Given the description of an element on the screen output the (x, y) to click on. 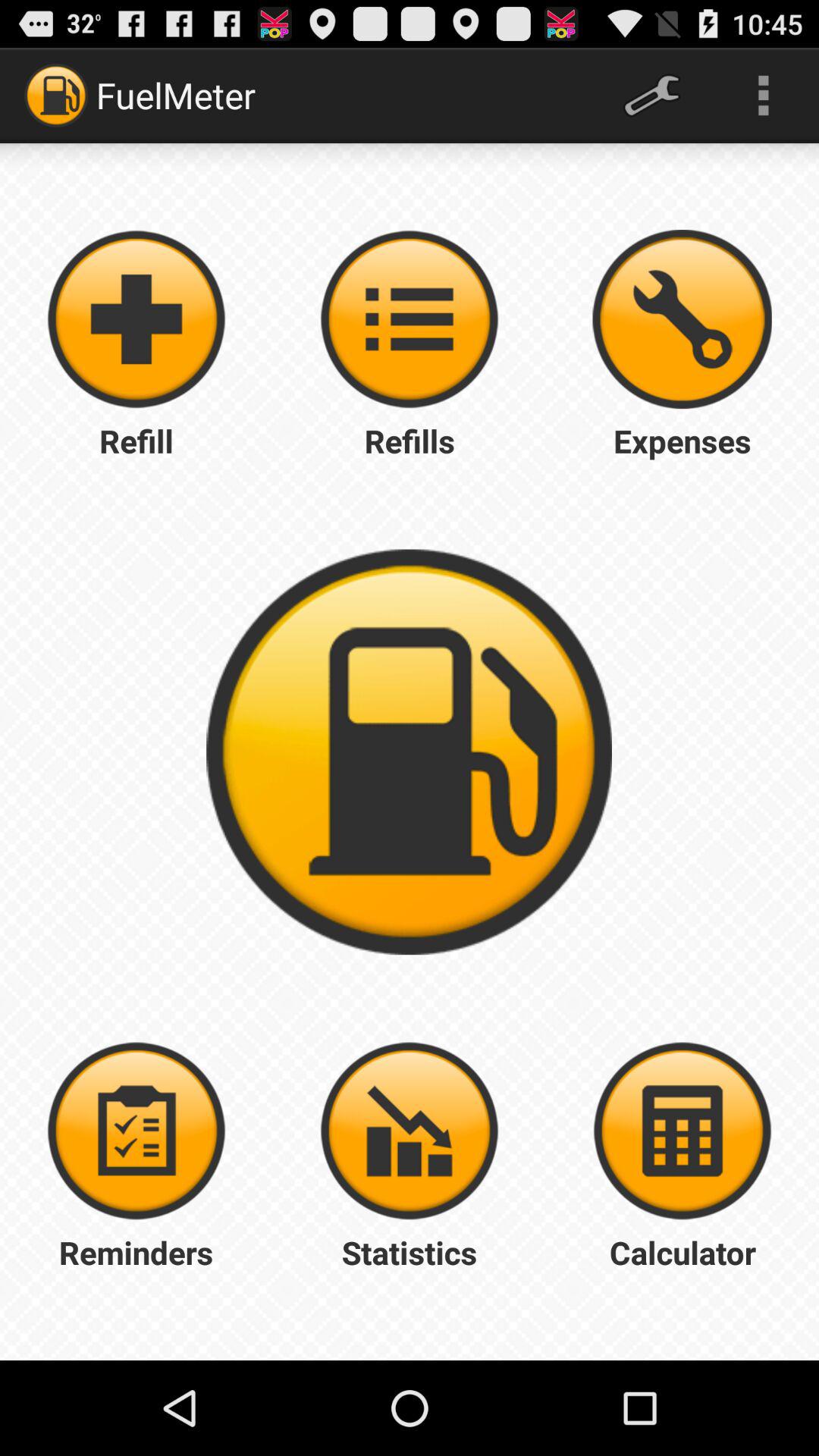
refills menu (409, 318)
